Given the description of an element on the screen output the (x, y) to click on. 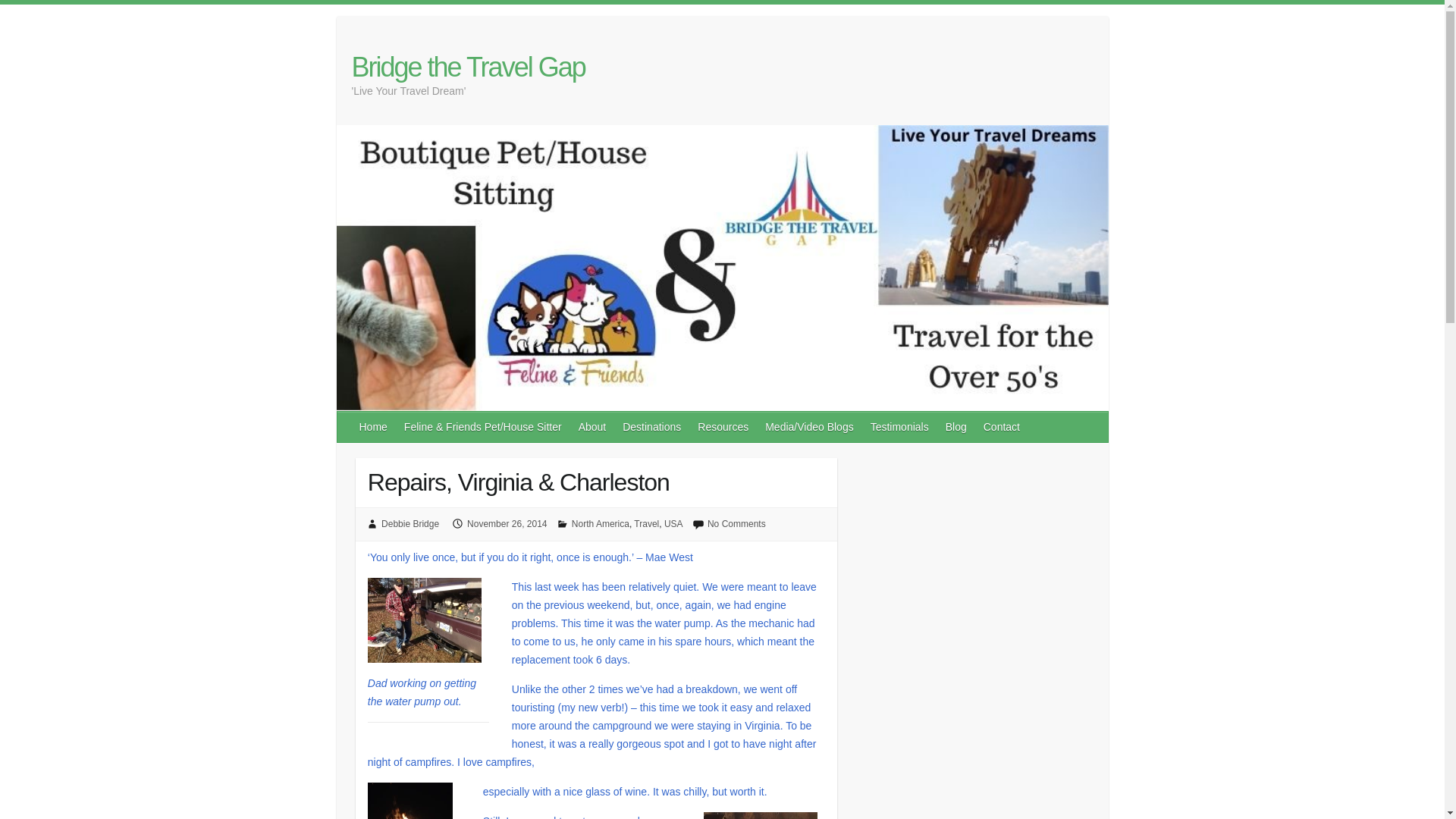
Bridge the Travel Gap (468, 67)
Destinations (652, 426)
Home (374, 426)
Bridge the Travel Gap (468, 67)
About (592, 426)
